Given the description of an element on the screen output the (x, y) to click on. 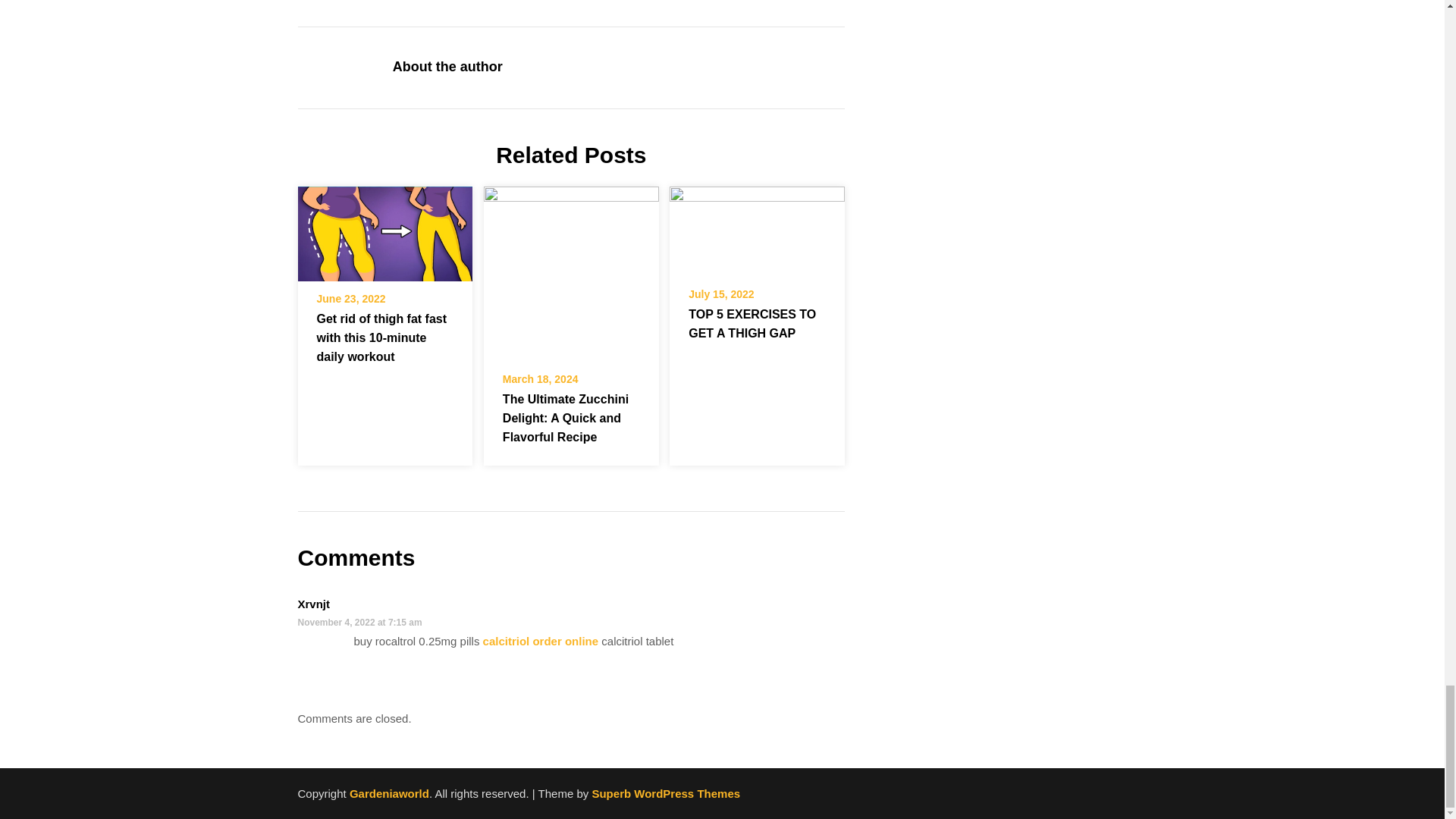
TOP 5 EXERCISES TO GET A THIGH GAP (751, 323)
Superb WordPress Themes (665, 793)
Gardeniaworld (389, 793)
Get rid of thigh fat fast with this 10-minute daily workout (384, 228)
calcitriol order online (540, 640)
TOP 5 EXERCISES TO GET A THIGH GAP (756, 226)
Get rid of thigh fat fast with this 10-minute daily workout (381, 337)
The Ultimate Zucchini Delight: A Quick and Flavorful Recipe (565, 418)
The Ultimate Zucchini Delight: A Quick and Flavorful Recipe (571, 268)
Xrvnjt (313, 603)
